Given the description of an element on the screen output the (x, y) to click on. 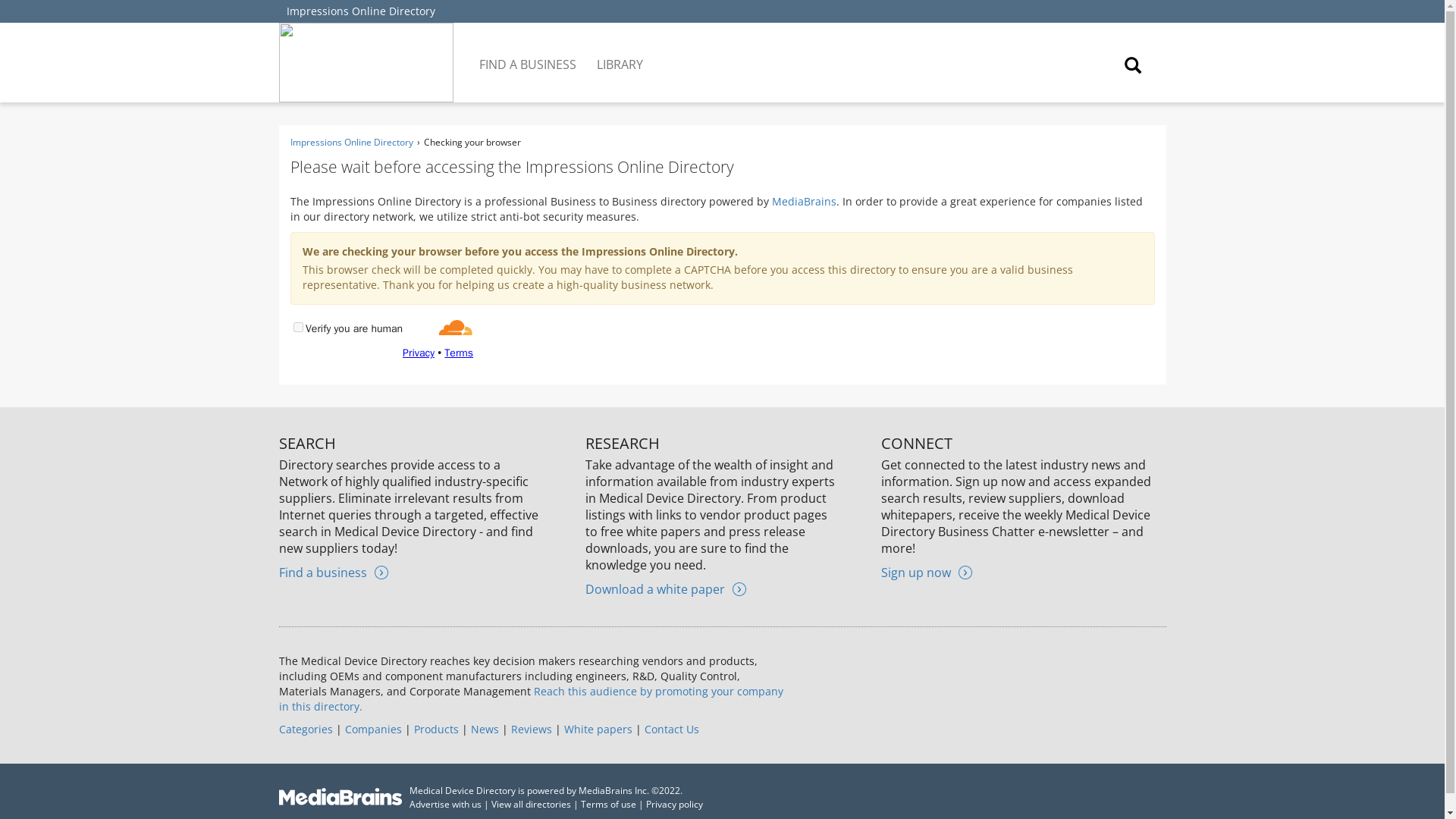
Categories (306, 728)
Find a business (333, 572)
Impressions Online Directory (350, 141)
Reviews (531, 728)
White papers (597, 728)
Sign up now (926, 572)
FIND A BUSINESS (528, 52)
Contact Us (671, 728)
Impressions Online Directory (360, 11)
Products (435, 728)
MediaBrains (803, 201)
Download a white paper (665, 588)
Terms of use (608, 803)
LIBRARY (620, 52)
